Given the description of an element on the screen output the (x, y) to click on. 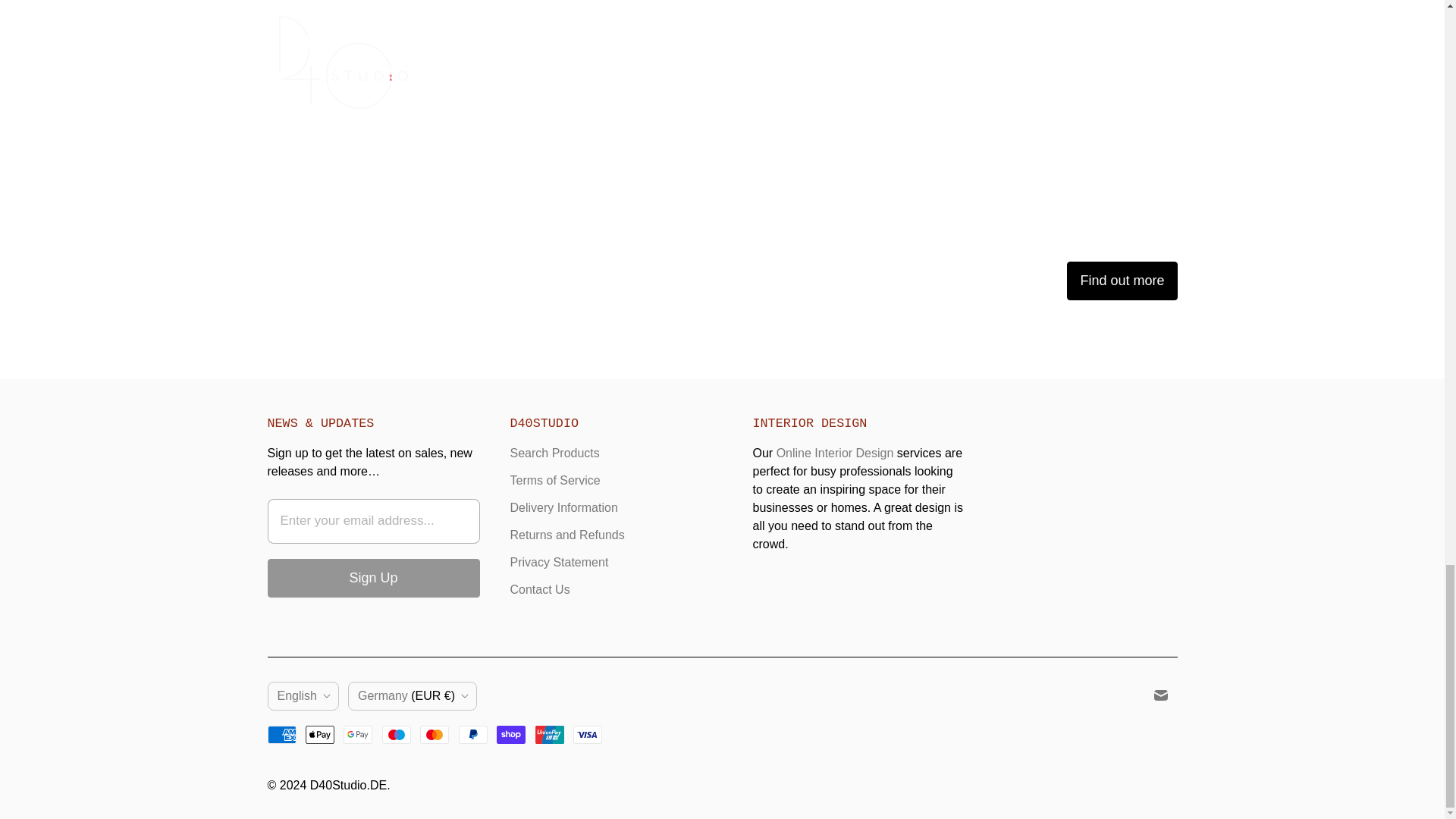
Apple Pay (319, 734)
Mastercard (434, 734)
Visa (587, 734)
PayPal (472, 734)
Google Pay (357, 734)
American Express (280, 734)
Shop Pay (510, 734)
Union Pay (549, 734)
Sign Up (372, 577)
Maestro (395, 734)
